Given the description of an element on the screen output the (x, y) to click on. 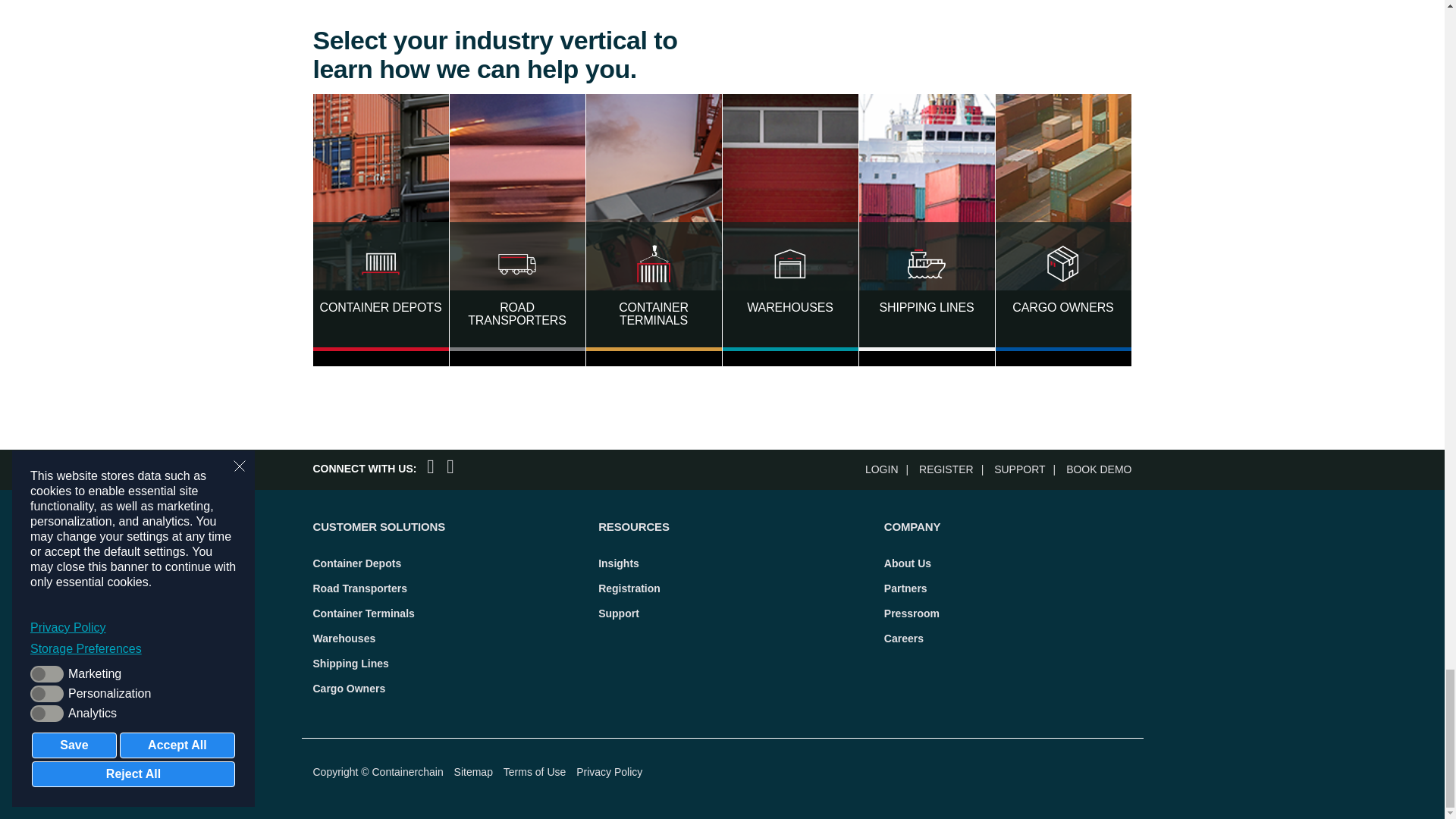
Support (618, 613)
About Us (907, 563)
Registration (629, 588)
Container Terminals (363, 613)
Partners (905, 588)
Registration (954, 469)
Warehouses (344, 638)
Insights (618, 563)
Sitemap (473, 771)
Support (1028, 469)
Road Transporters (359, 588)
Pressroom (911, 613)
Book Demo (1098, 469)
Cargo owners (349, 688)
Container Depots (357, 563)
